Given the description of an element on the screen output the (x, y) to click on. 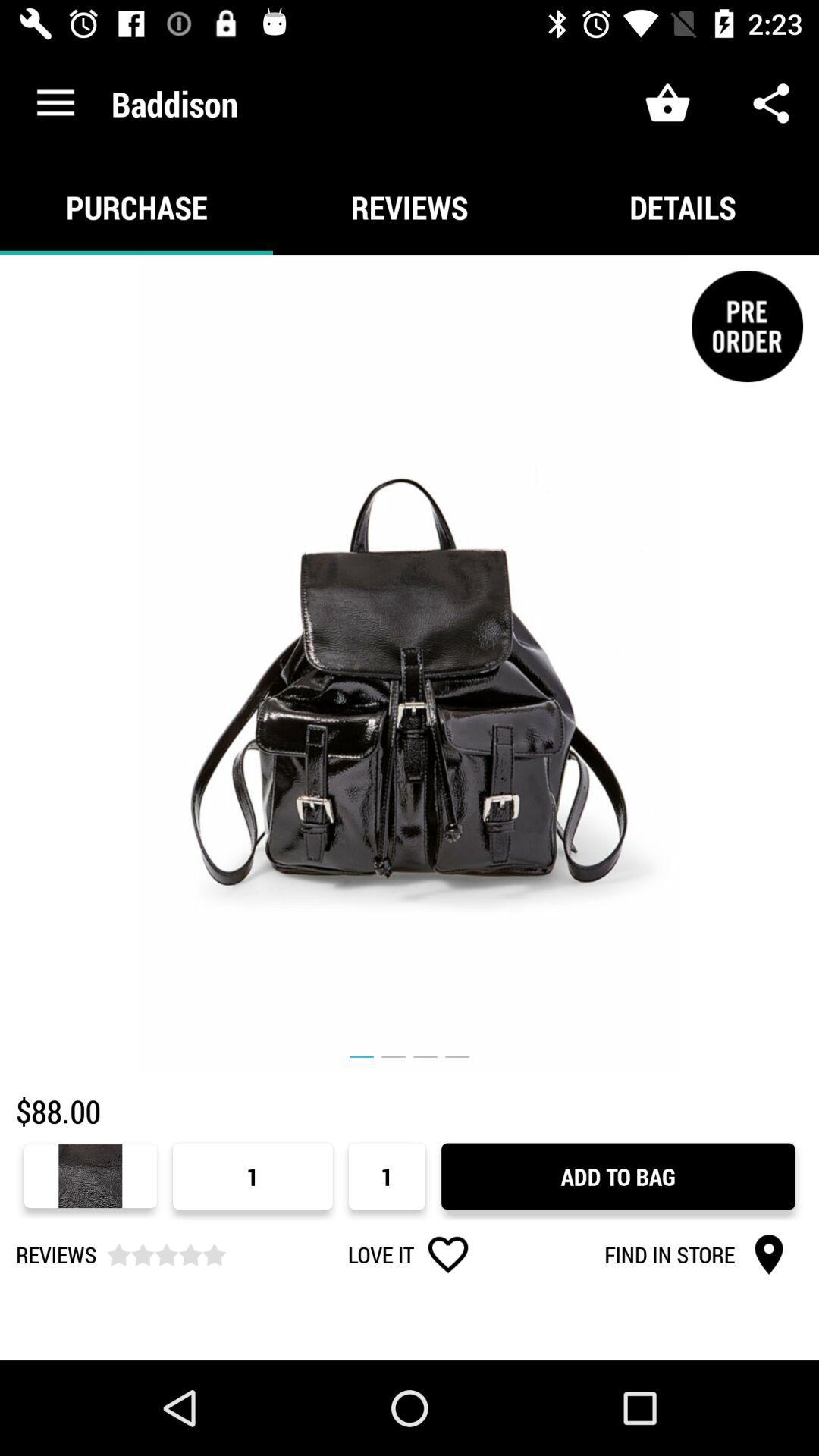
tap the icon above the $88.00 item (409, 663)
